Given the description of an element on the screen output the (x, y) to click on. 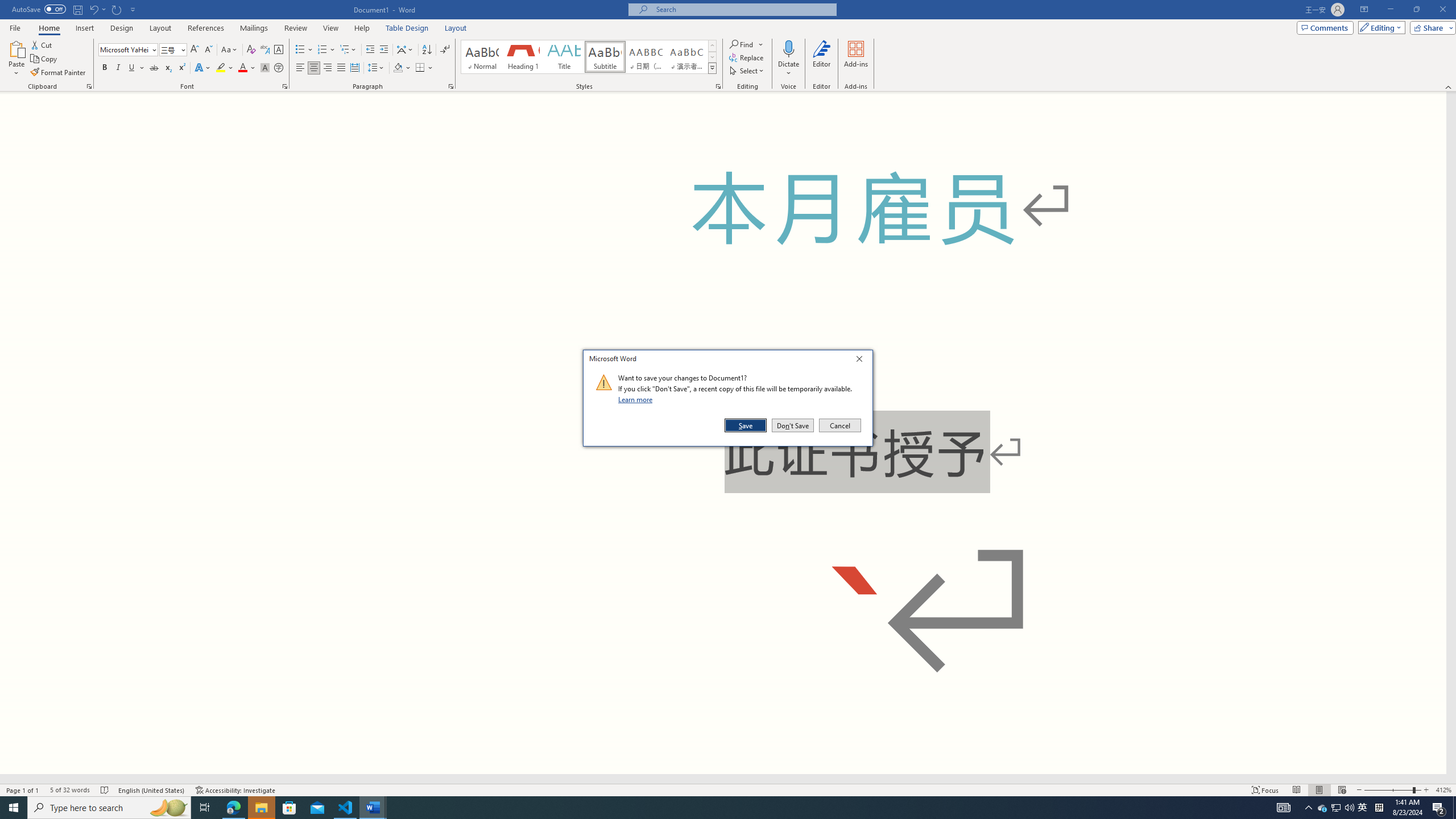
Align Left (300, 67)
AutomationID: 4105 (1283, 807)
Enclose Characters... (278, 67)
Microsoft Edge - 1 running window (233, 807)
Tray Input Indicator - Chinese (Simplified, China) (1378, 807)
Font Color (246, 67)
Character Shading (264, 67)
Justify (340, 67)
